Given the description of an element on the screen output the (x, y) to click on. 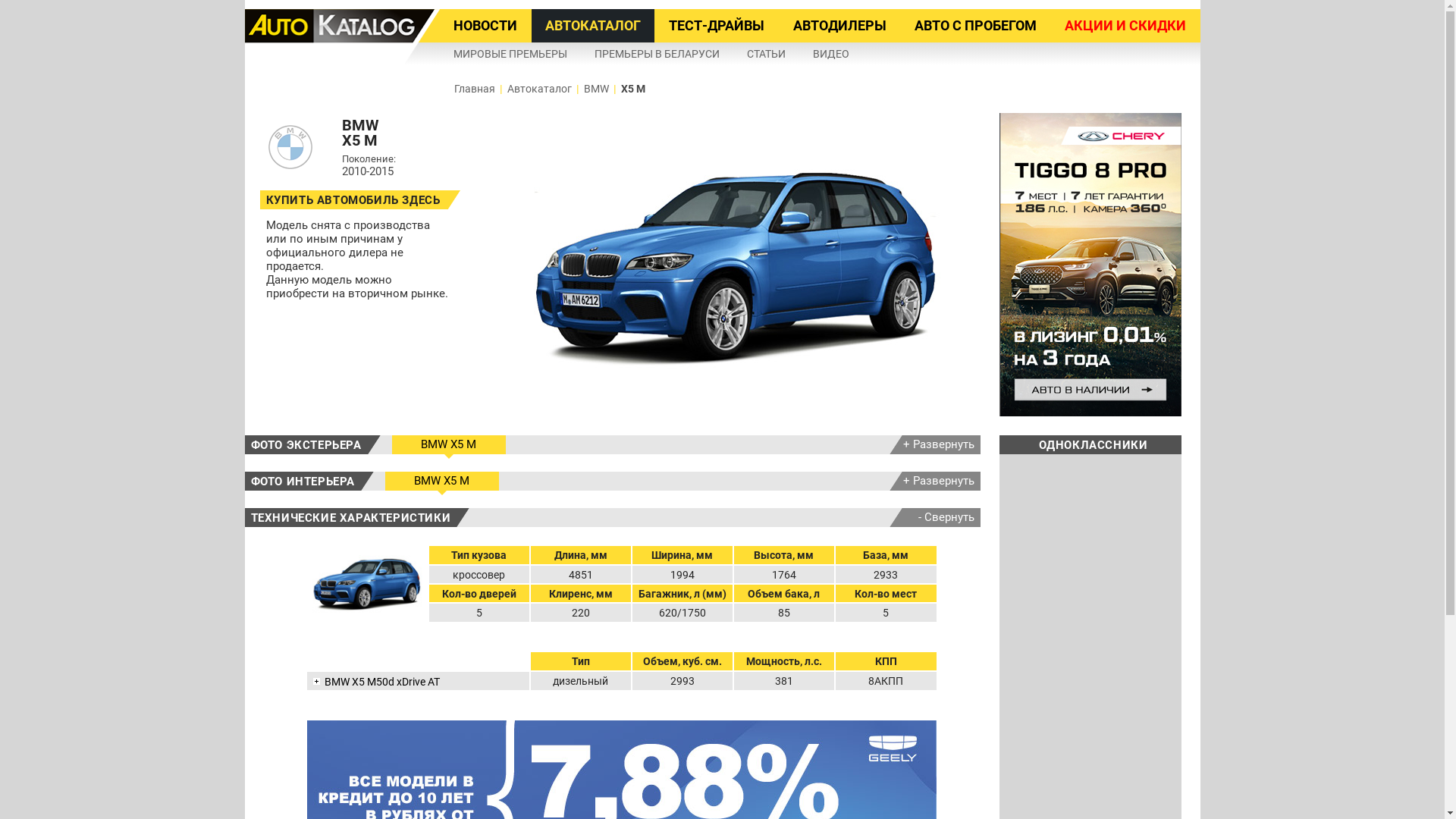
BMW Element type: text (595, 88)
